Given the description of an element on the screen output the (x, y) to click on. 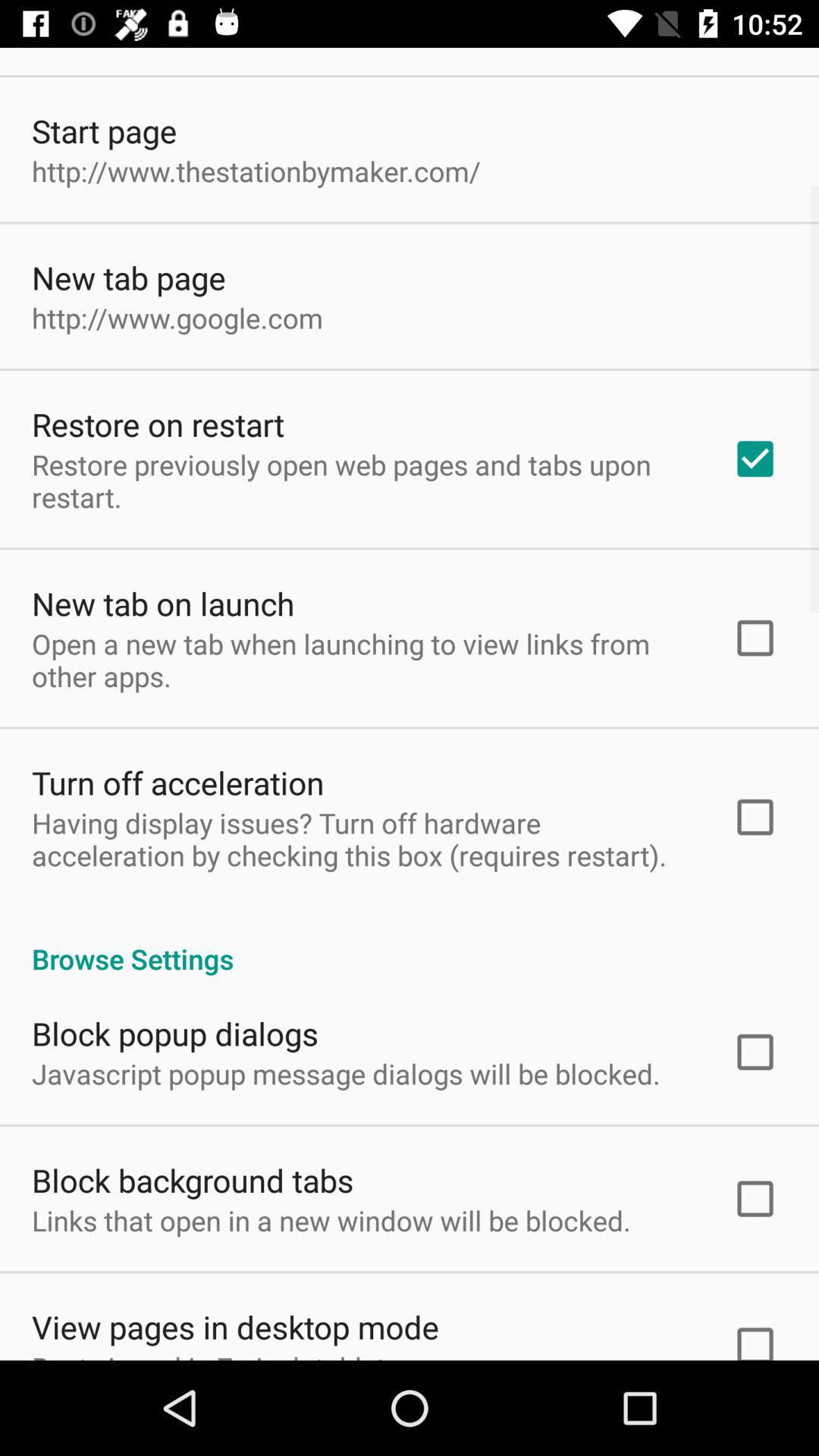
turn off the app above the http www thestationbymaker (103, 130)
